Given the description of an element on the screen output the (x, y) to click on. 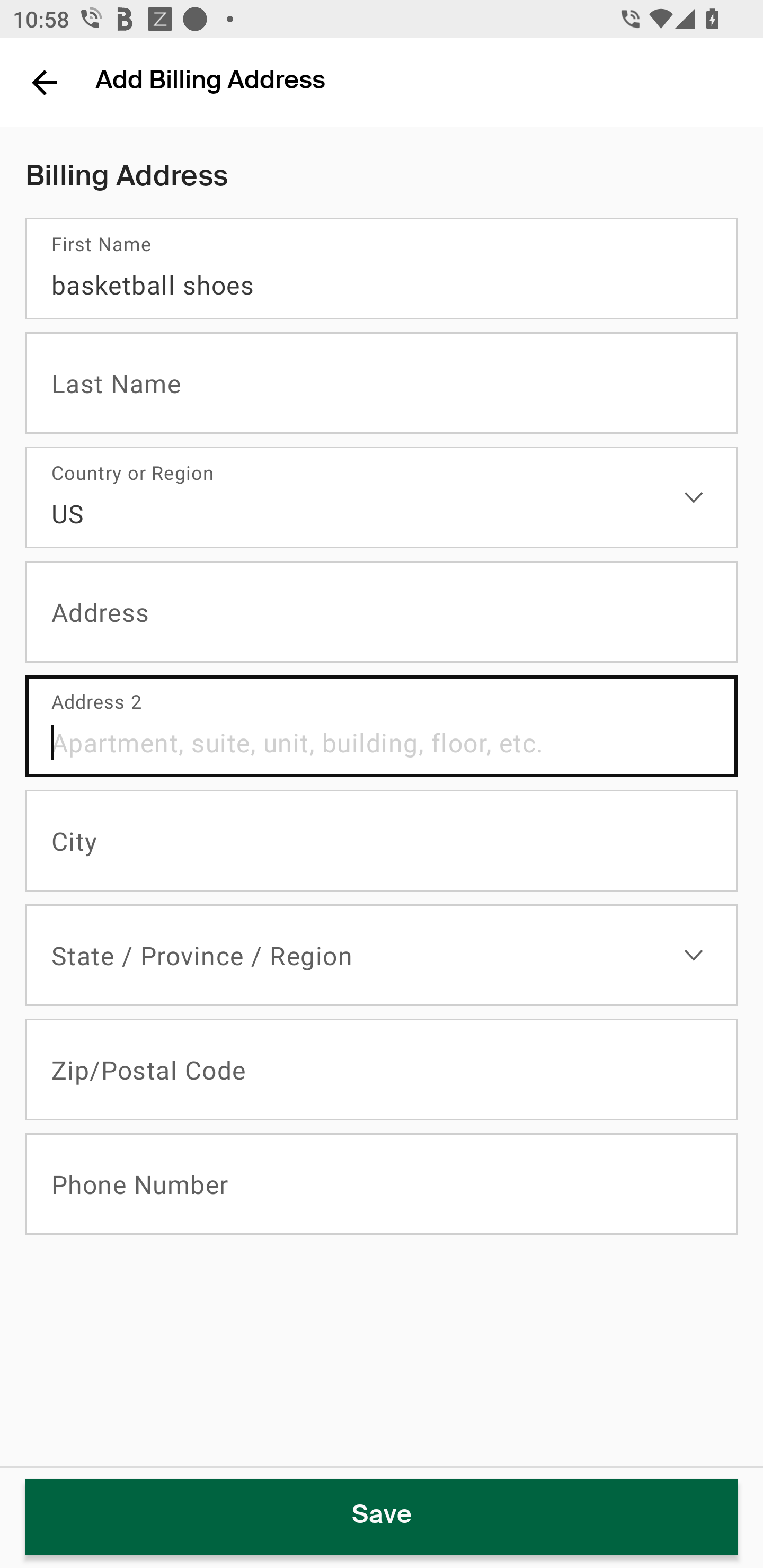
Navigate up (44, 82)
basketball shoes
 First Name (381, 268)
Last Name (381, 383)
Address (381, 612)
City (381, 841)
Zip/Postal Code (381, 1070)
Phone Number (381, 1184)
Save (381, 1516)
